Given the description of an element on the screen output the (x, y) to click on. 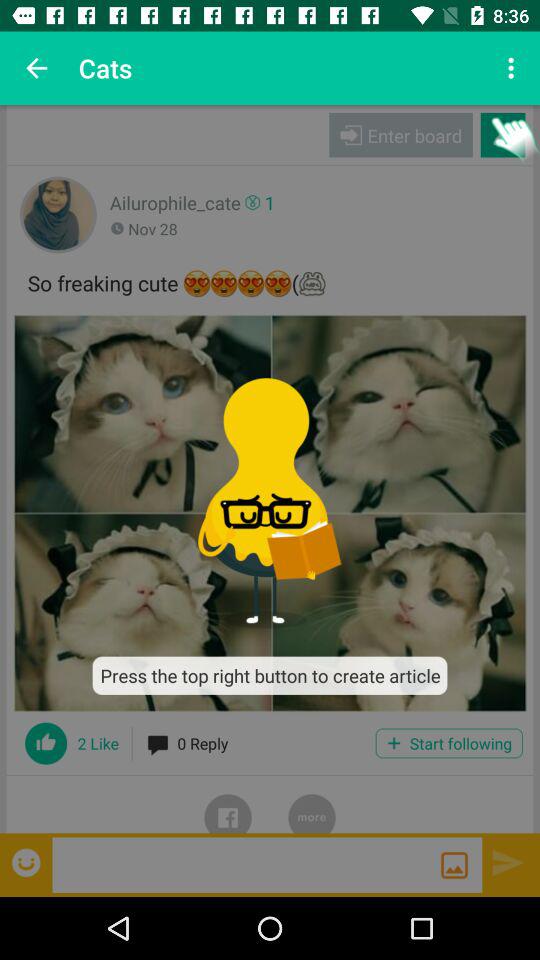
upload picture (454, 865)
